Given the description of an element on the screen output the (x, y) to click on. 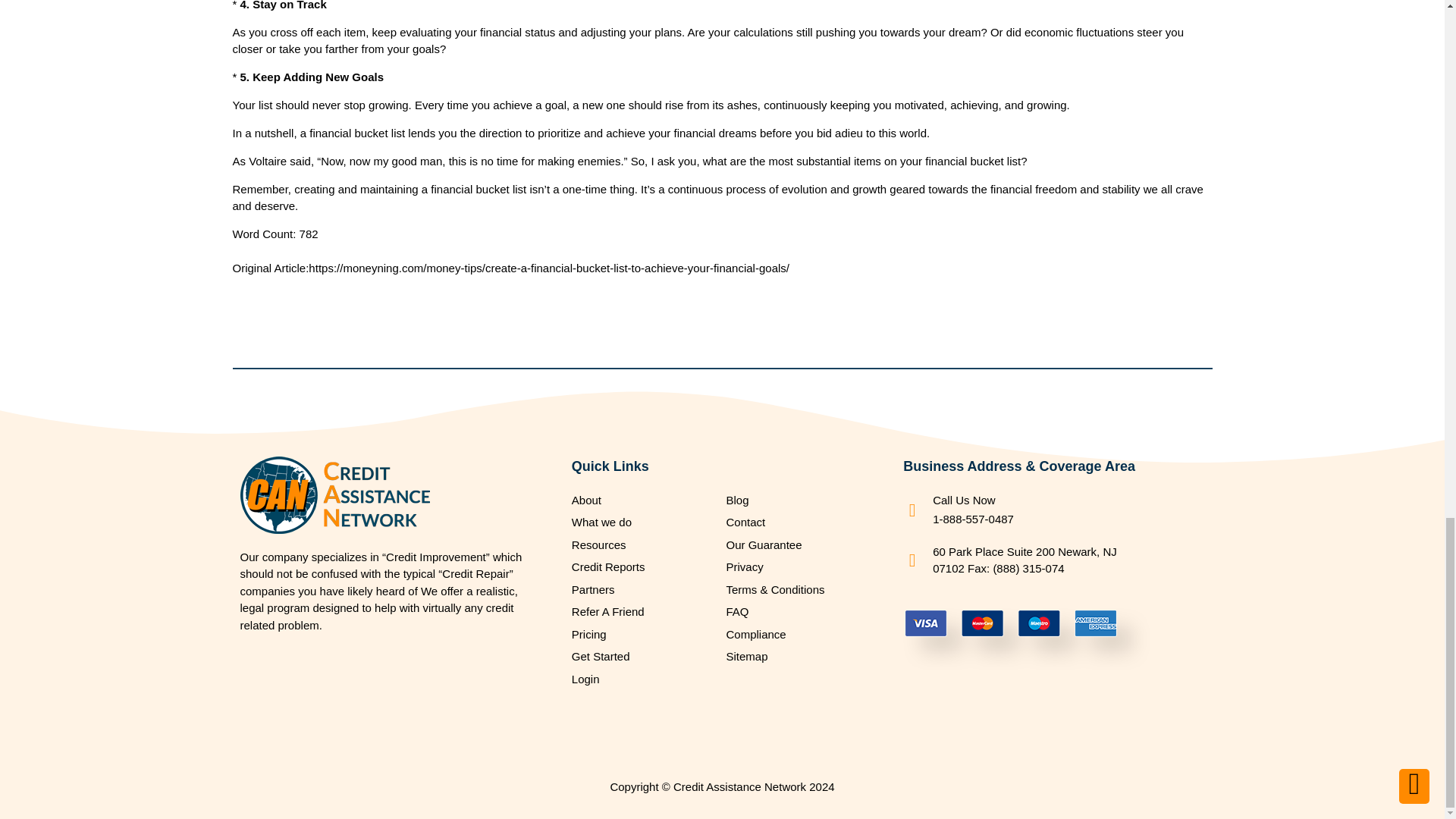
Credit Reports (645, 567)
Refer A Friend (645, 611)
Resources (645, 545)
Our Guarantee (798, 545)
Privacy (798, 567)
What we do (645, 522)
1-888-557-0487 (973, 518)
FAQ (798, 611)
Login (645, 679)
About (645, 500)
Compliance (798, 634)
Partners (645, 589)
Get Started (645, 656)
Pricing (645, 634)
Sitemap (798, 656)
